Given the description of an element on the screen output the (x, y) to click on. 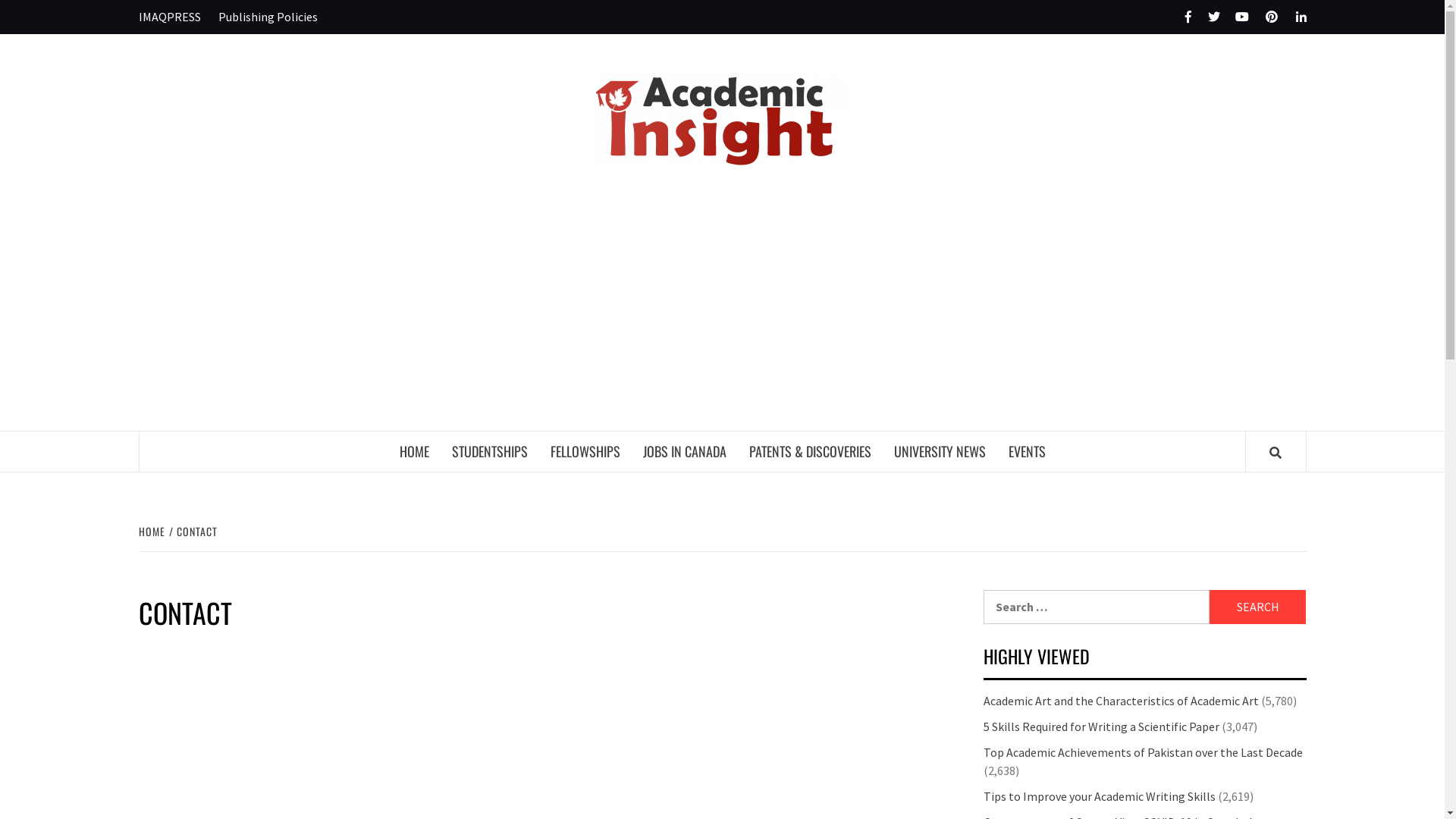
CONTACT Element type: text (194, 531)
Tips to Improve your Academic Writing Skills Element type: text (1098, 795)
Search Element type: text (1257, 606)
Pinterest Element type: text (1264, 17)
FELLOWSHIPS Element type: text (584, 451)
LinkedIn Element type: text (1293, 17)
HOME Element type: text (153, 531)
IMAQPRESS Element type: text (172, 17)
Publishing Policies Element type: text (267, 17)
JOBS IN CANADA Element type: text (683, 451)
Twitter Element type: text (1206, 17)
EVENTS Element type: text (1026, 451)
HOME Element type: text (414, 451)
5 Skills Required for Writing a Scientific Paper Element type: text (1100, 726)
Facebook Element type: text (1177, 17)
Advertisement Element type: hover (721, 316)
PATENTS & DISCOVERIES Element type: text (809, 451)
Academic Art and the Characteristics of Academic Art Element type: text (1120, 700)
STUDENTSHIPS Element type: text (488, 451)
Top Academic Achievements of Pakistan over the Last Decade Element type: text (1142, 751)
Youtube Element type: text (1235, 17)
UNIVERSITY NEWS Element type: text (939, 451)
